Given the description of an element on the screen output the (x, y) to click on. 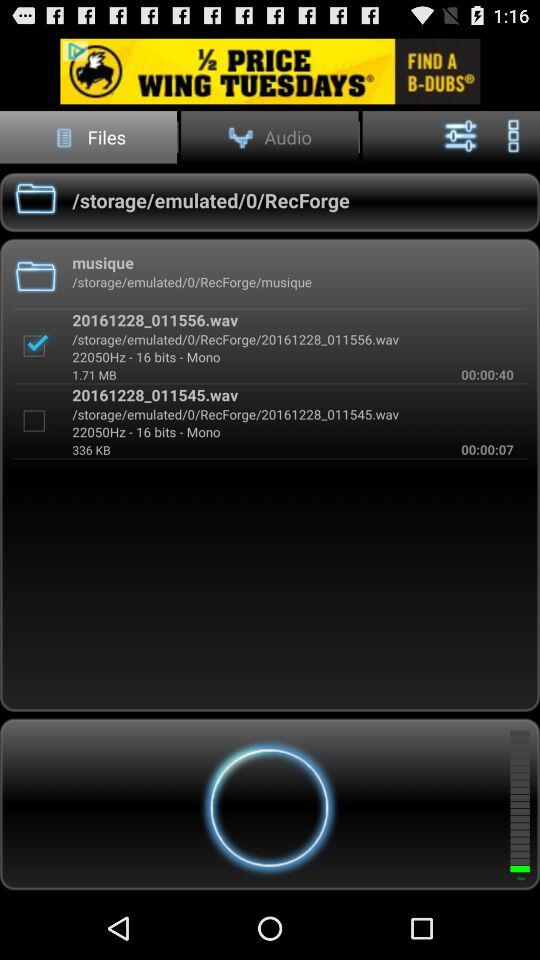
click advertisement (270, 70)
